Given the description of an element on the screen output the (x, y) to click on. 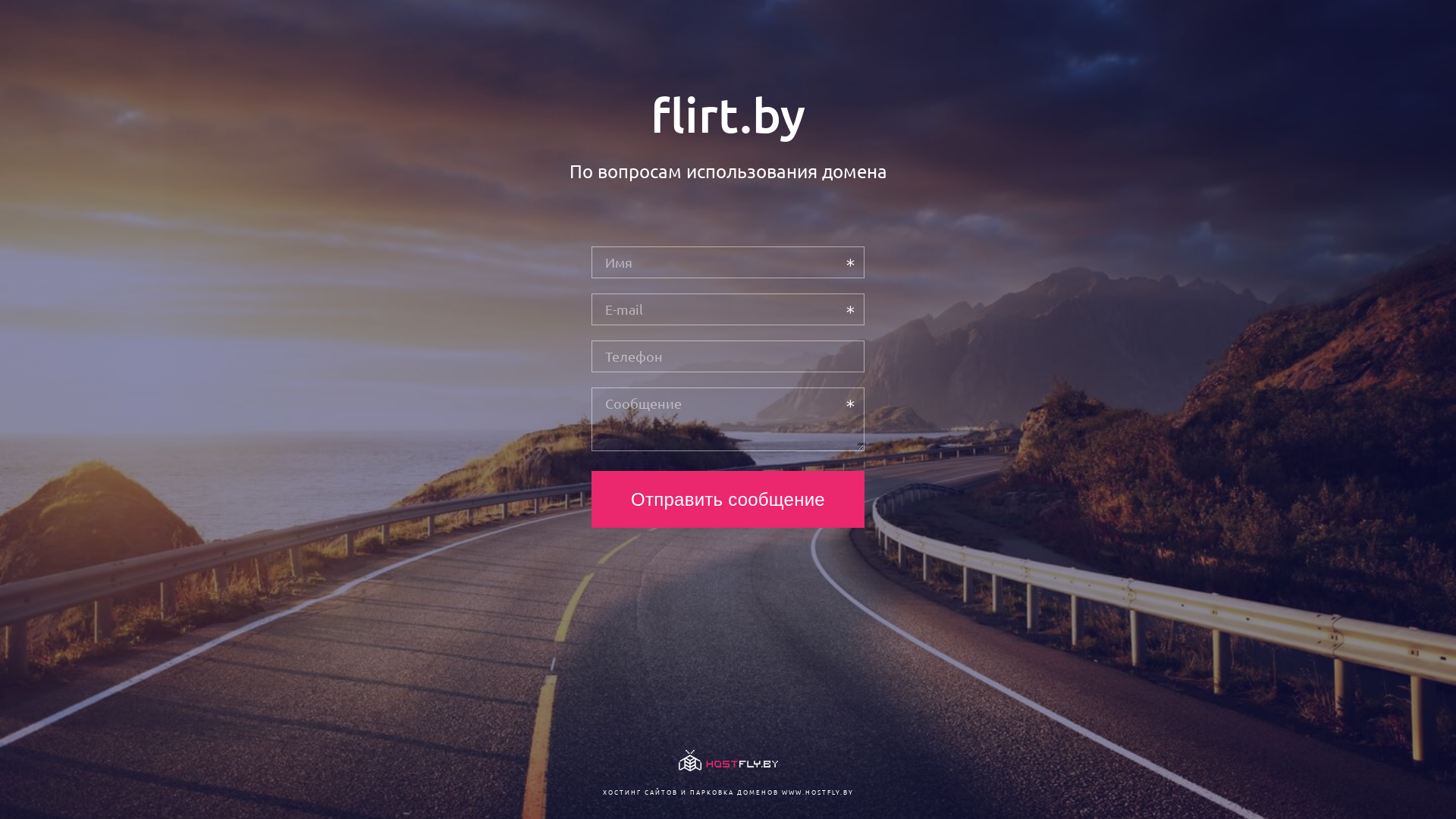
WWW.HOSTFLY.BY Element type: text (817, 791)
